Given the description of an element on the screen output the (x, y) to click on. 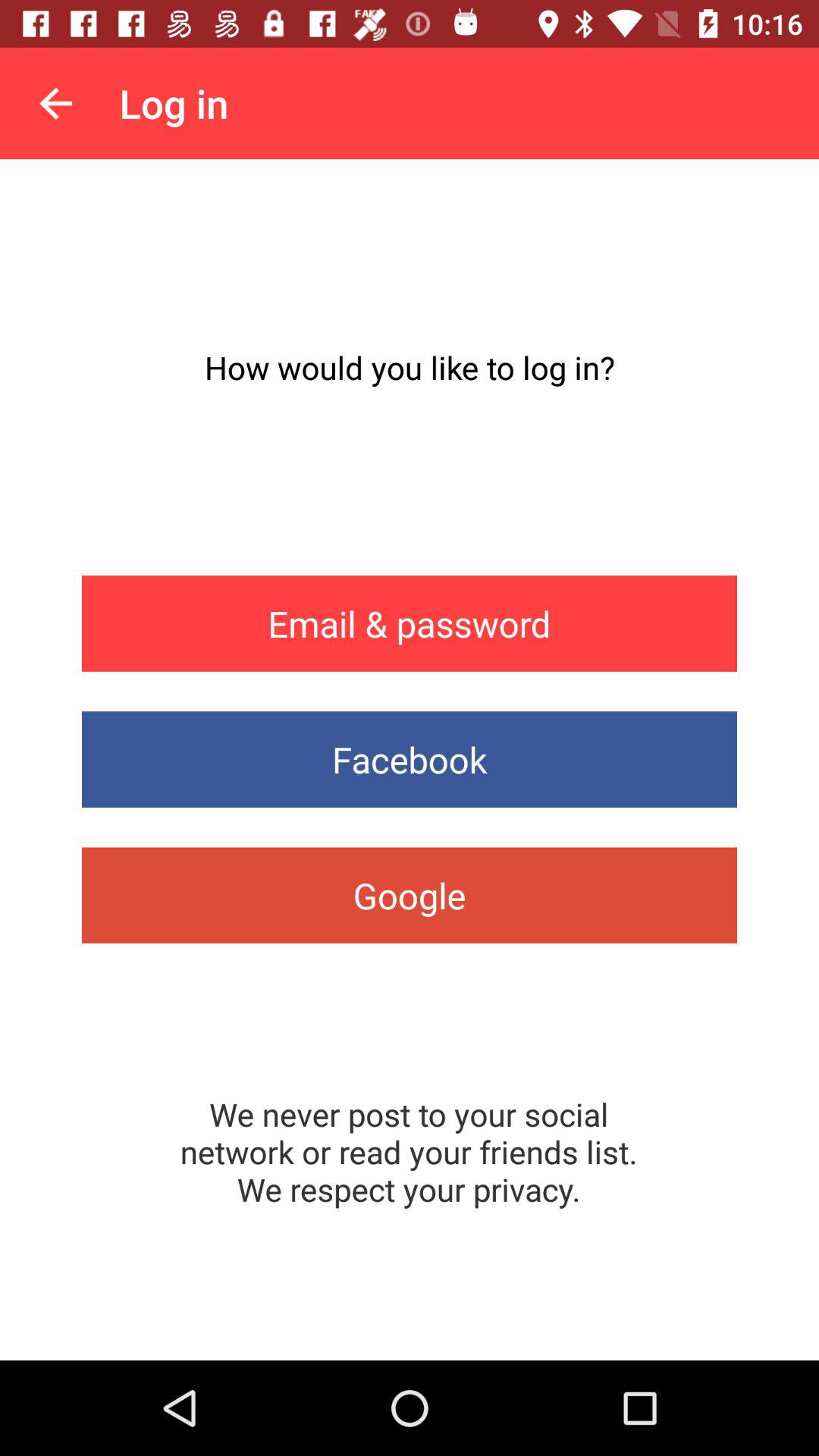
open icon to the left of the log in item (55, 103)
